Given the description of an element on the screen output the (x, y) to click on. 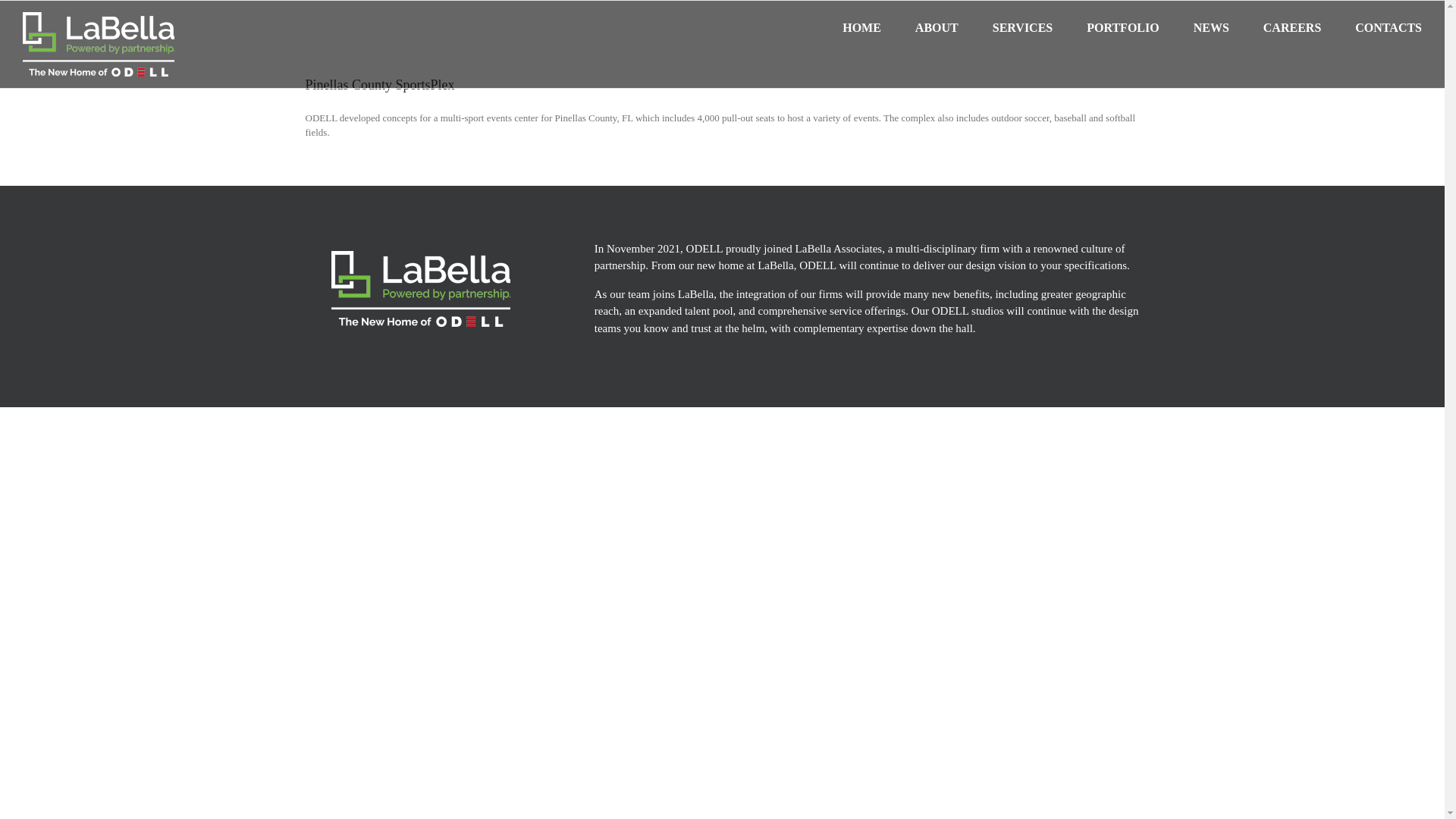
CAREERS (1291, 26)
SERVICES (1022, 26)
PORTFOLIO (1122, 26)
CONTACTS (1388, 26)
